Given the description of an element on the screen output the (x, y) to click on. 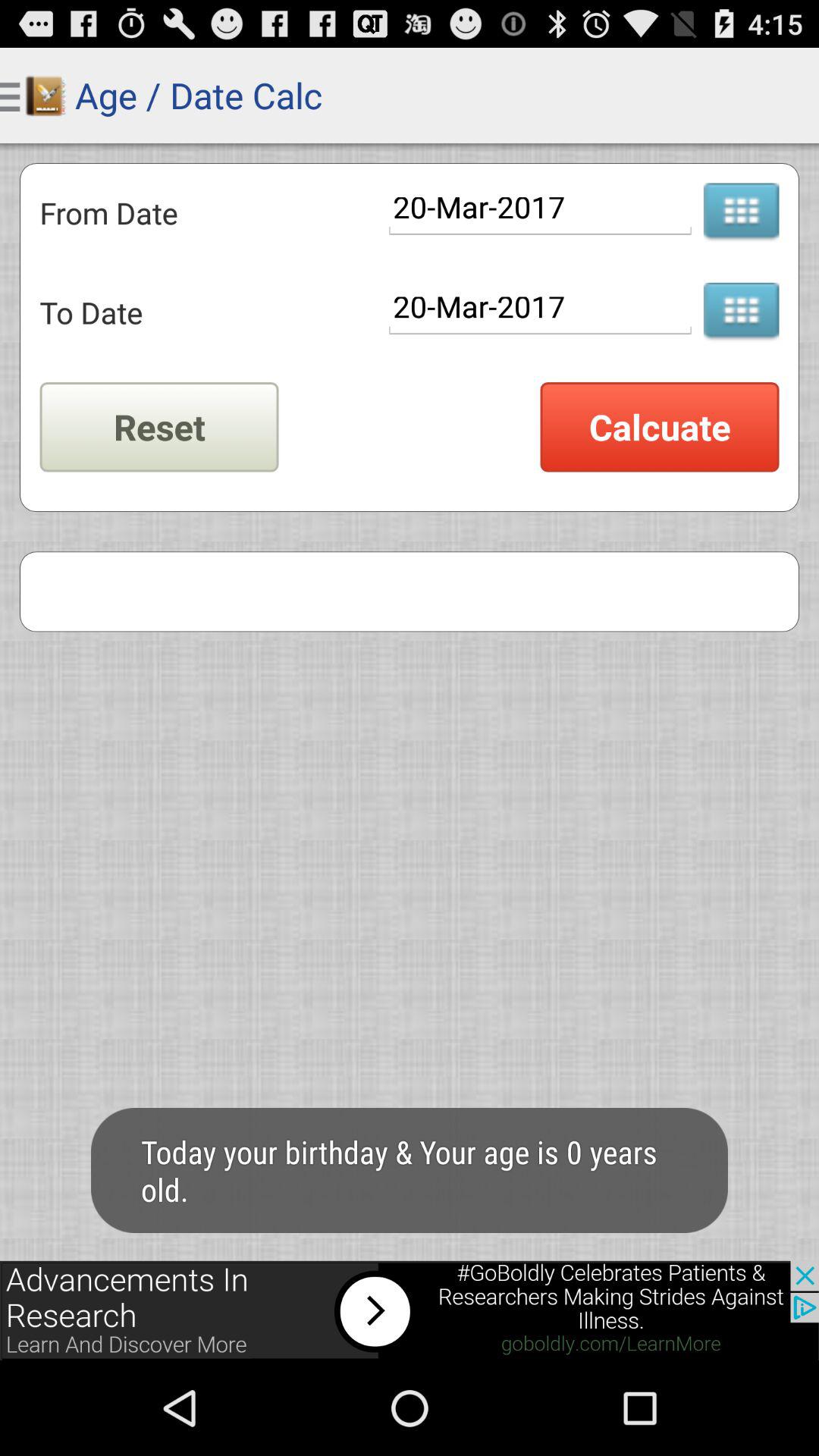
choose a date (741, 212)
